Given the description of an element on the screen output the (x, y) to click on. 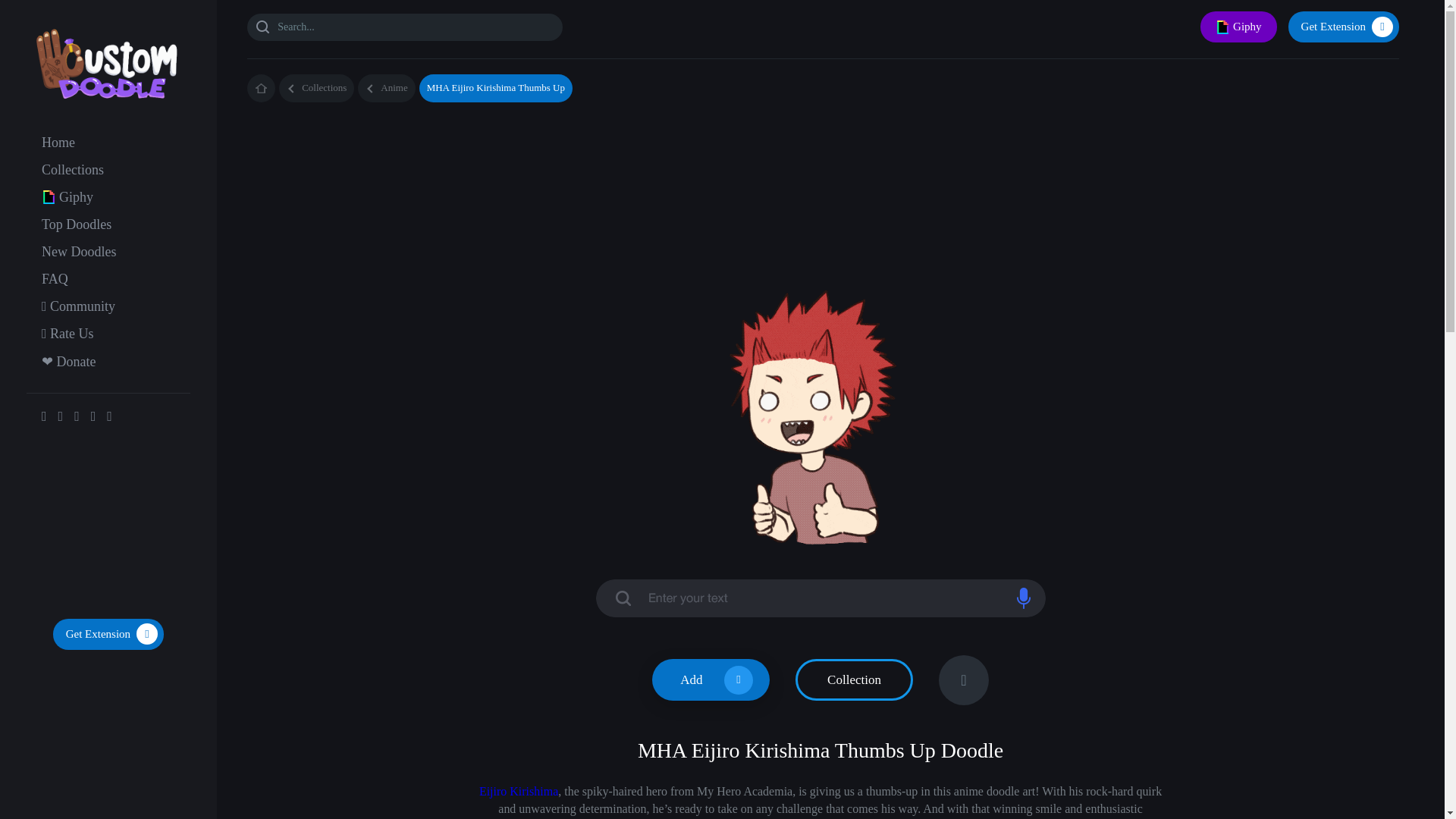
Home (58, 142)
Get Extension (107, 634)
Get Extension (1343, 26)
Advertisement (108, 524)
Collections (316, 88)
Collections (72, 169)
Giphy (76, 197)
Giphy (1237, 26)
Top Doodles (77, 224)
New Doodles (79, 251)
